Given the description of an element on the screen output the (x, y) to click on. 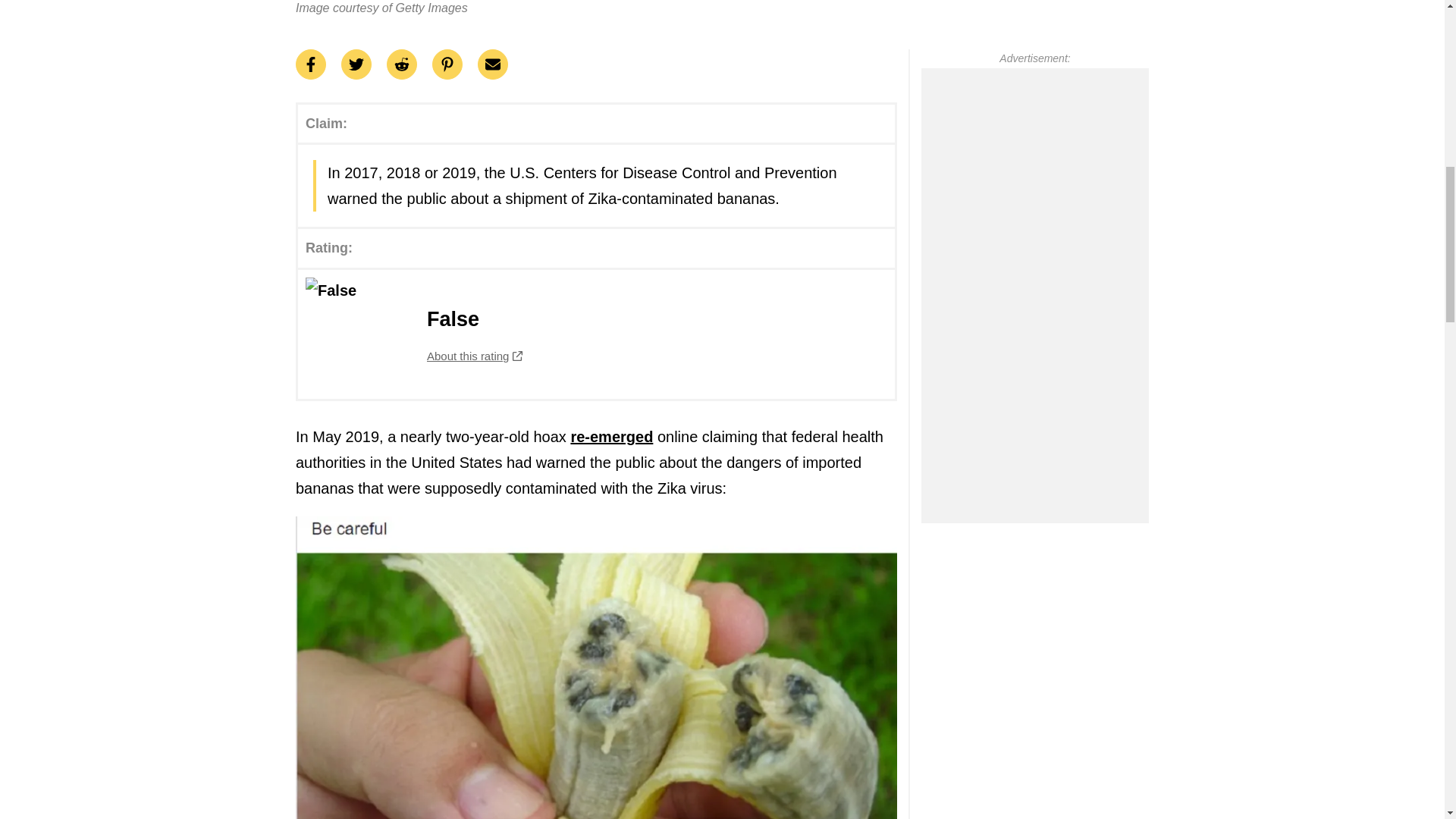
re-emerged (595, 334)
